Given the description of an element on the screen output the (x, y) to click on. 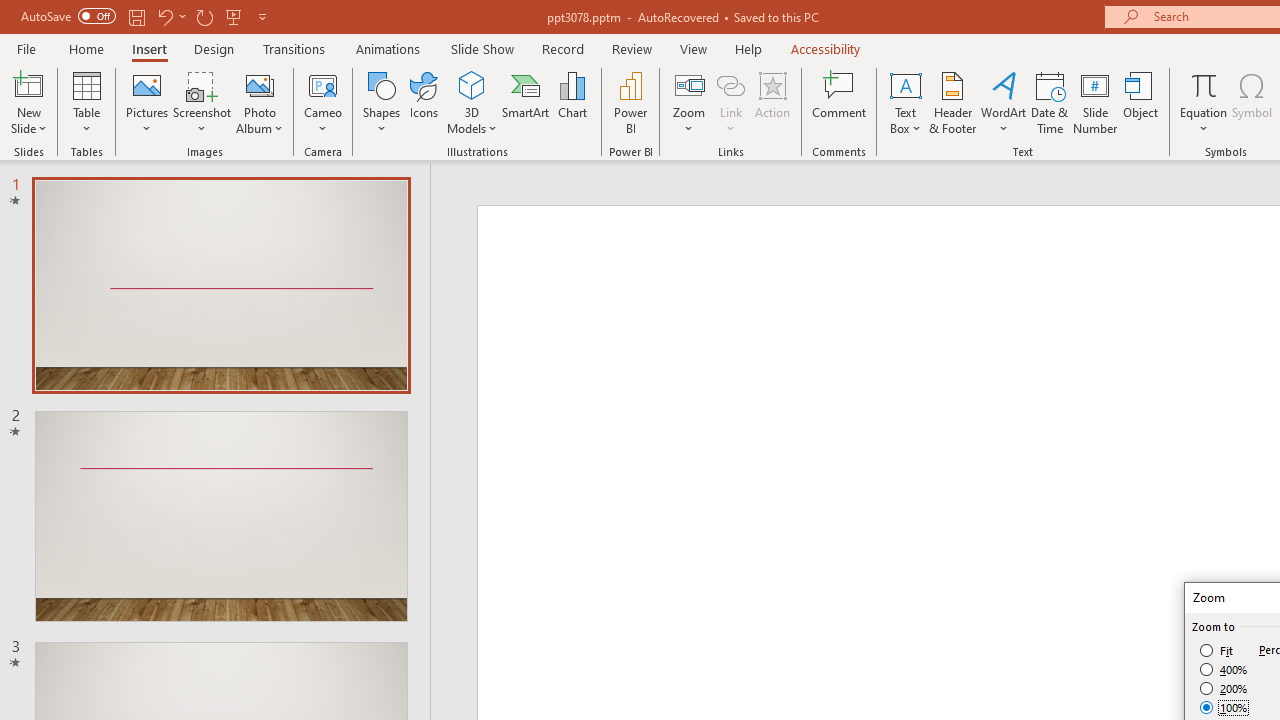
Fit (1217, 650)
Symbol... (1252, 102)
Slide Number (1095, 102)
WordArt (1004, 102)
